Given the description of an element on the screen output the (x, y) to click on. 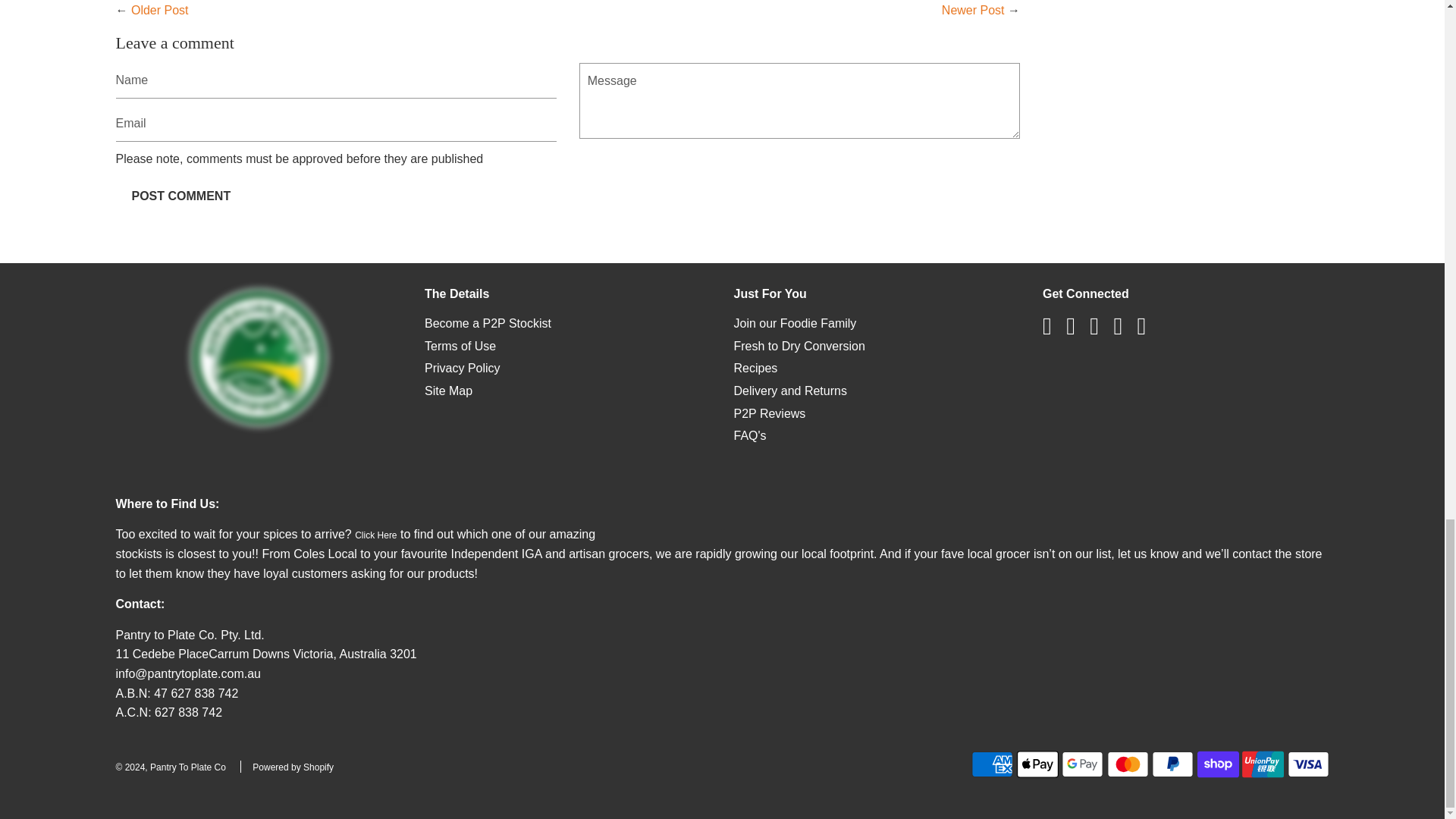
Union Pay (1262, 764)
Post comment (180, 196)
Mastercard (1127, 764)
Google Pay (1082, 764)
Apple Pay (1037, 764)
Shop Pay (1217, 764)
Newer Post (973, 10)
Visa (1308, 764)
Older Post (160, 10)
Post comment (180, 196)
